Given the description of an element on the screen output the (x, y) to click on. 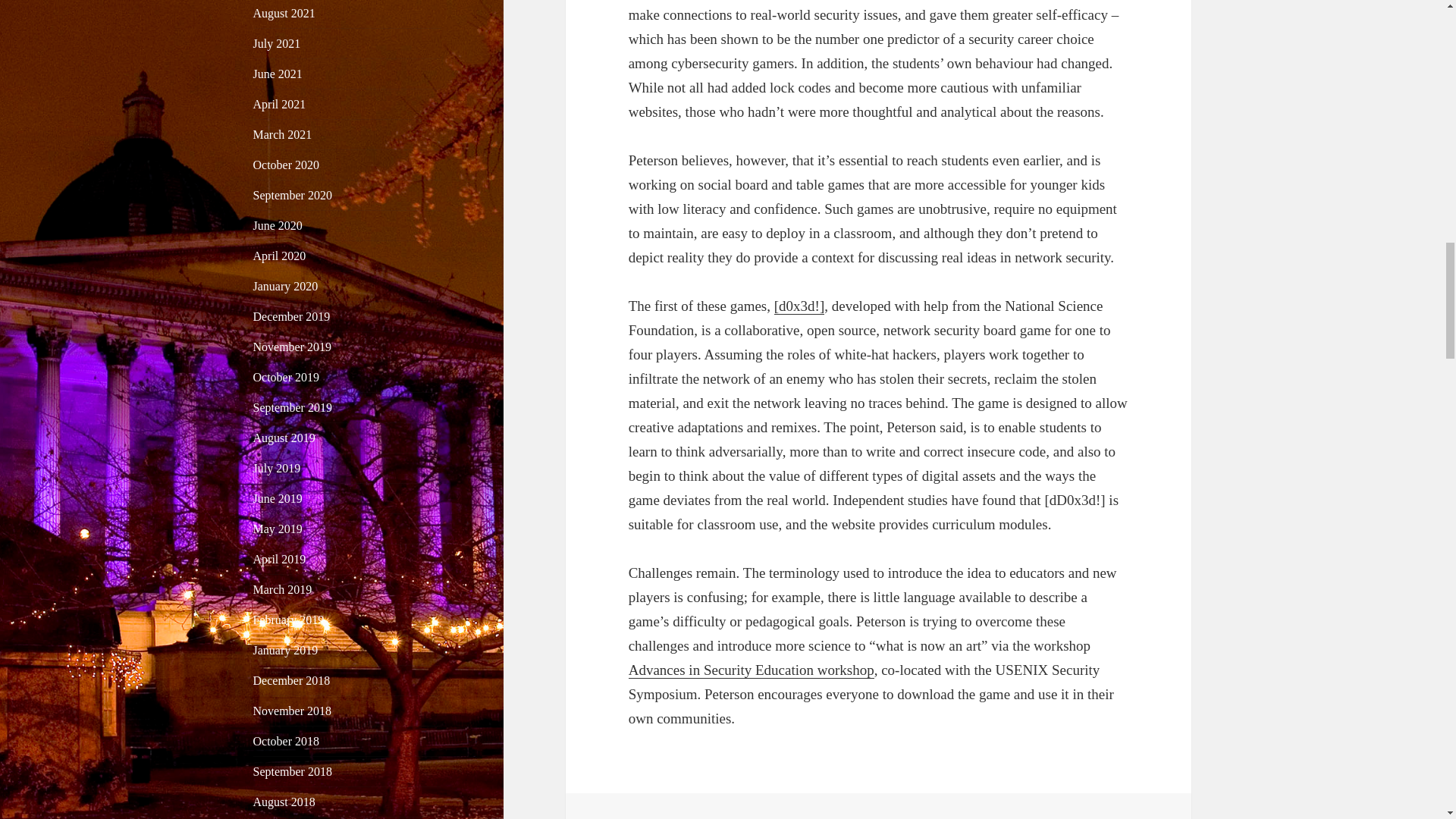
June 2021 (277, 73)
July 2021 (277, 42)
January 2020 (285, 286)
August 2021 (284, 12)
March 2021 (283, 133)
April 2020 (279, 255)
October 2020 (286, 164)
June 2020 (277, 225)
April 2021 (279, 103)
September 2020 (292, 195)
